Given the description of an element on the screen output the (x, y) to click on. 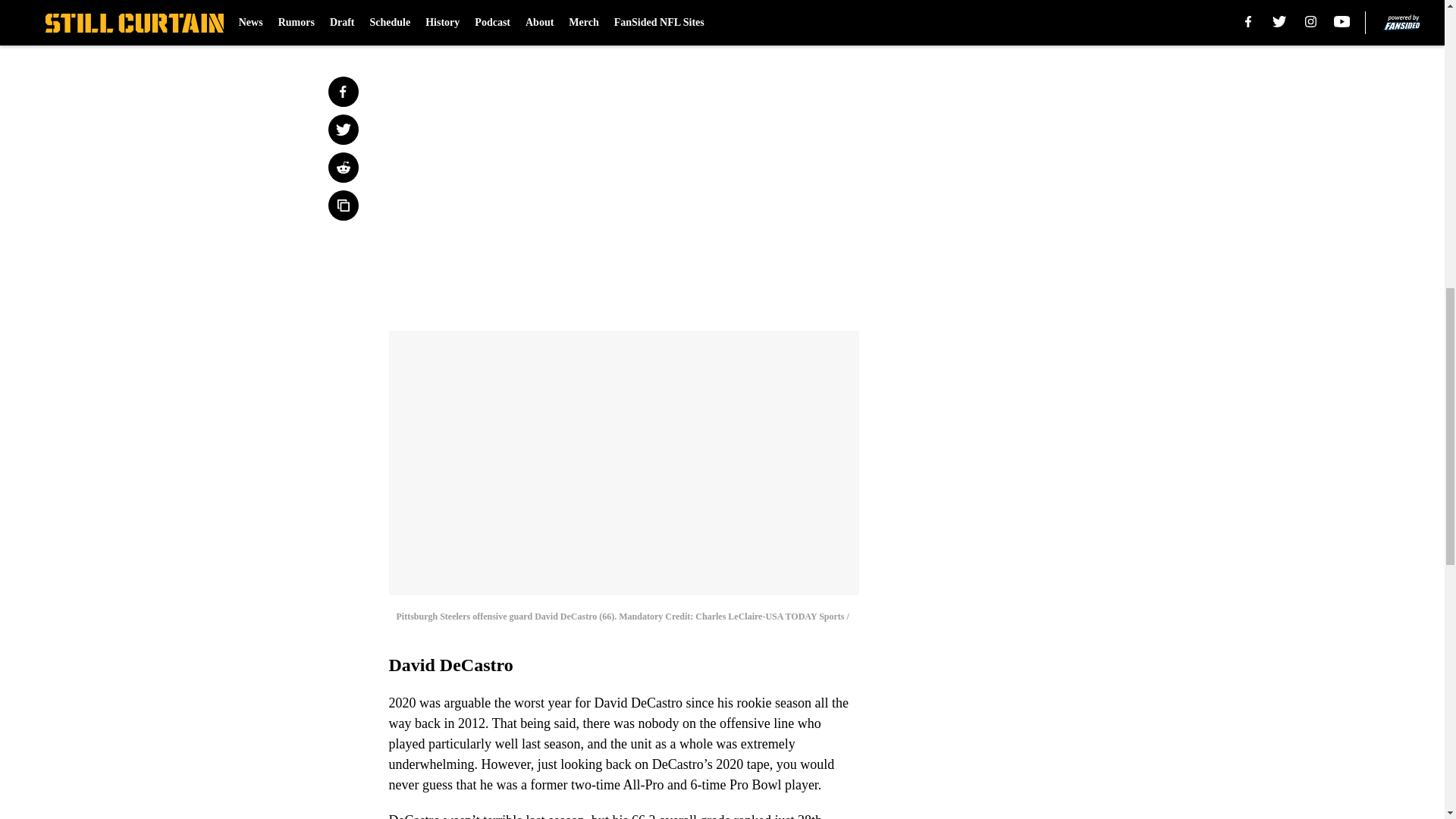
Prev (433, 20)
Next (813, 20)
